Given the description of an element on the screen output the (x, y) to click on. 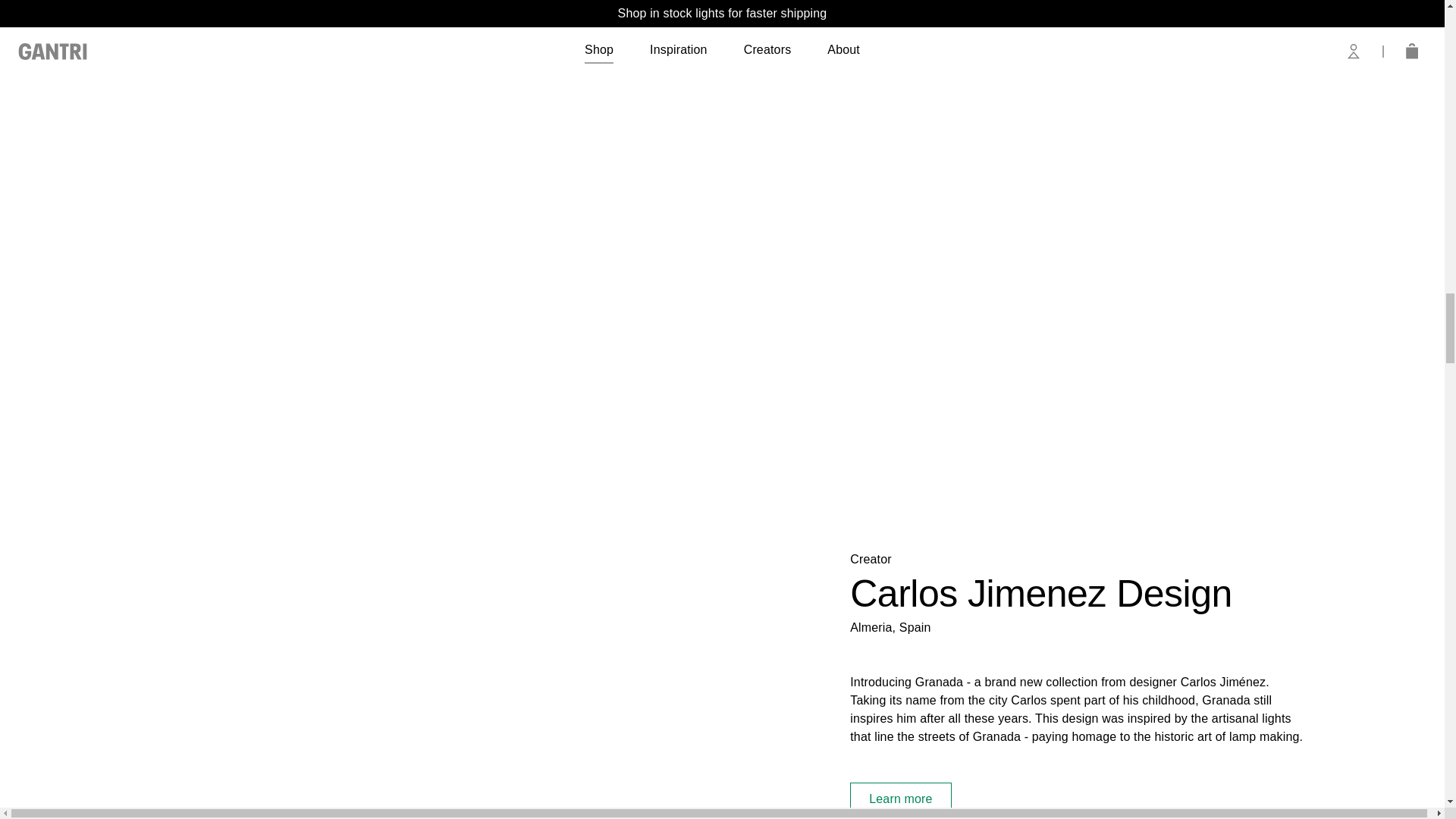
Architectural Digest (122, 9)
Learn more (1078, 798)
Learn more (900, 798)
